Given the description of an element on the screen output the (x, y) to click on. 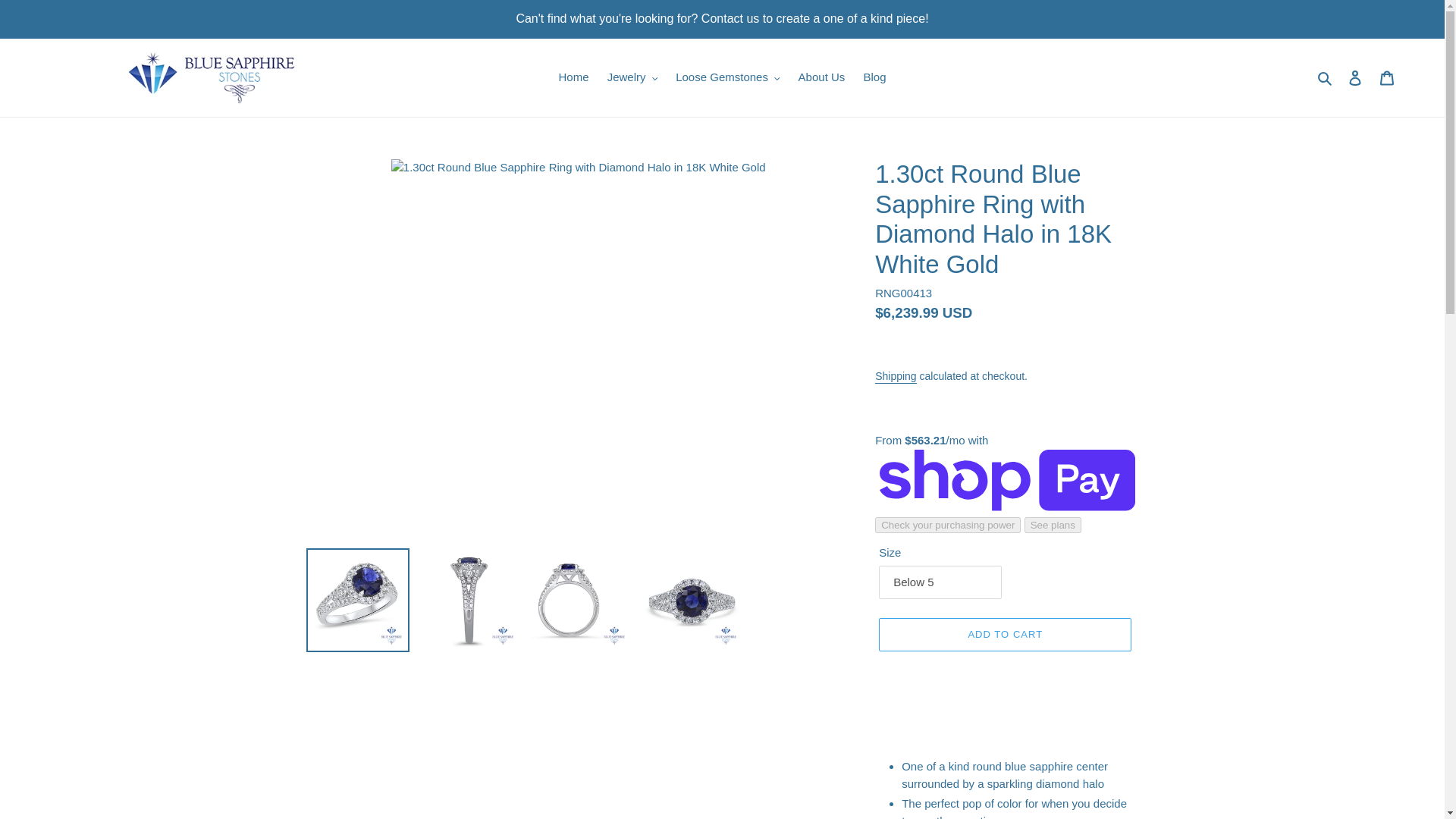
Home (572, 77)
Loose Gemstones (727, 77)
Blog (874, 77)
About Us (821, 77)
Search (1326, 76)
Jewelry (632, 77)
Log in (1355, 77)
Cart (1387, 77)
